Given the description of an element on the screen output the (x, y) to click on. 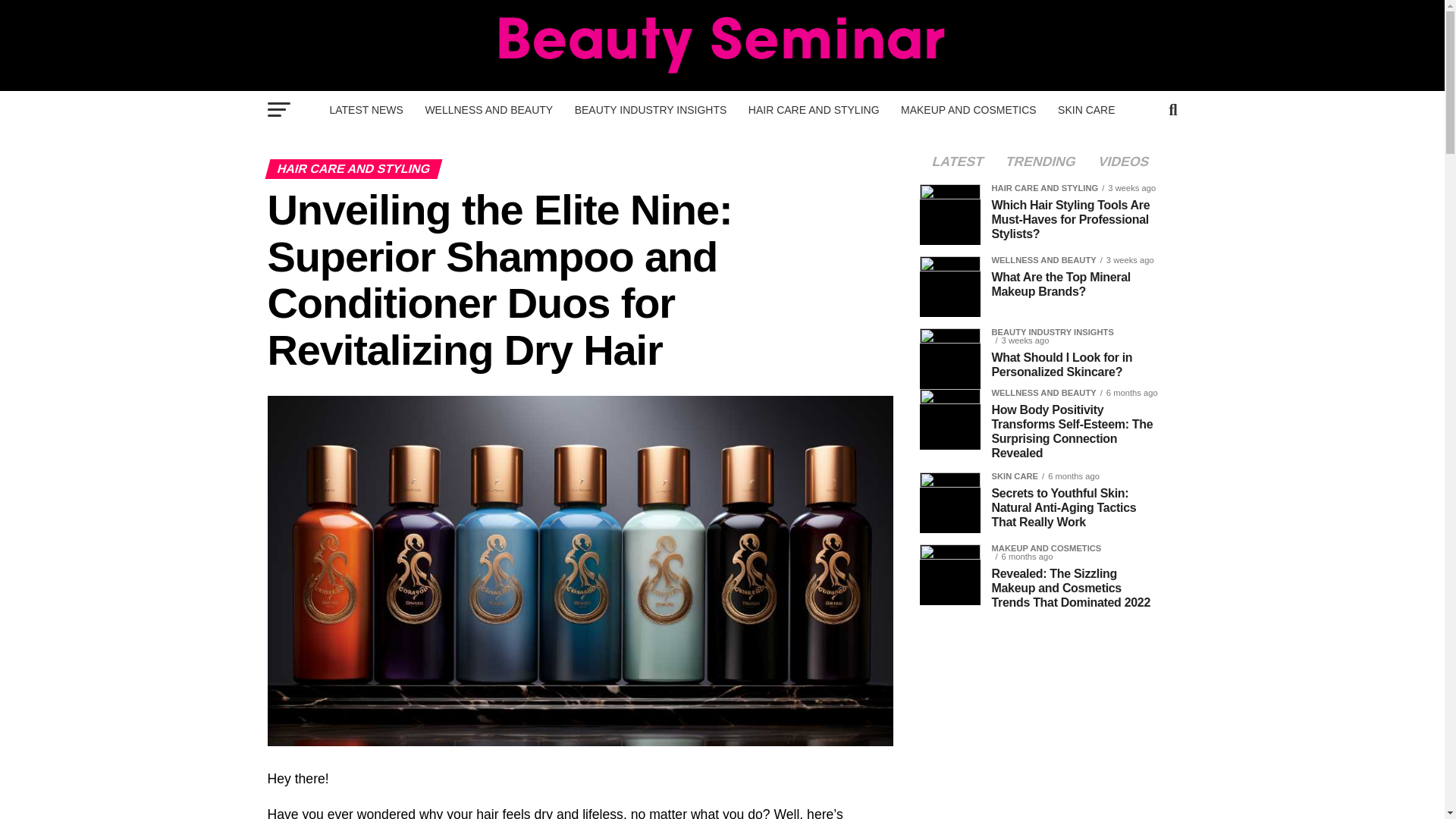
SKIN CARE (1086, 109)
MAKEUP AND COSMETICS (968, 109)
WELLNESS AND BEAUTY (488, 109)
LATEST NEWS (366, 109)
HAIR CARE AND STYLING (813, 109)
BEAUTY INDUSTRY INSIGHTS (651, 109)
